Given the description of an element on the screen output the (x, y) to click on. 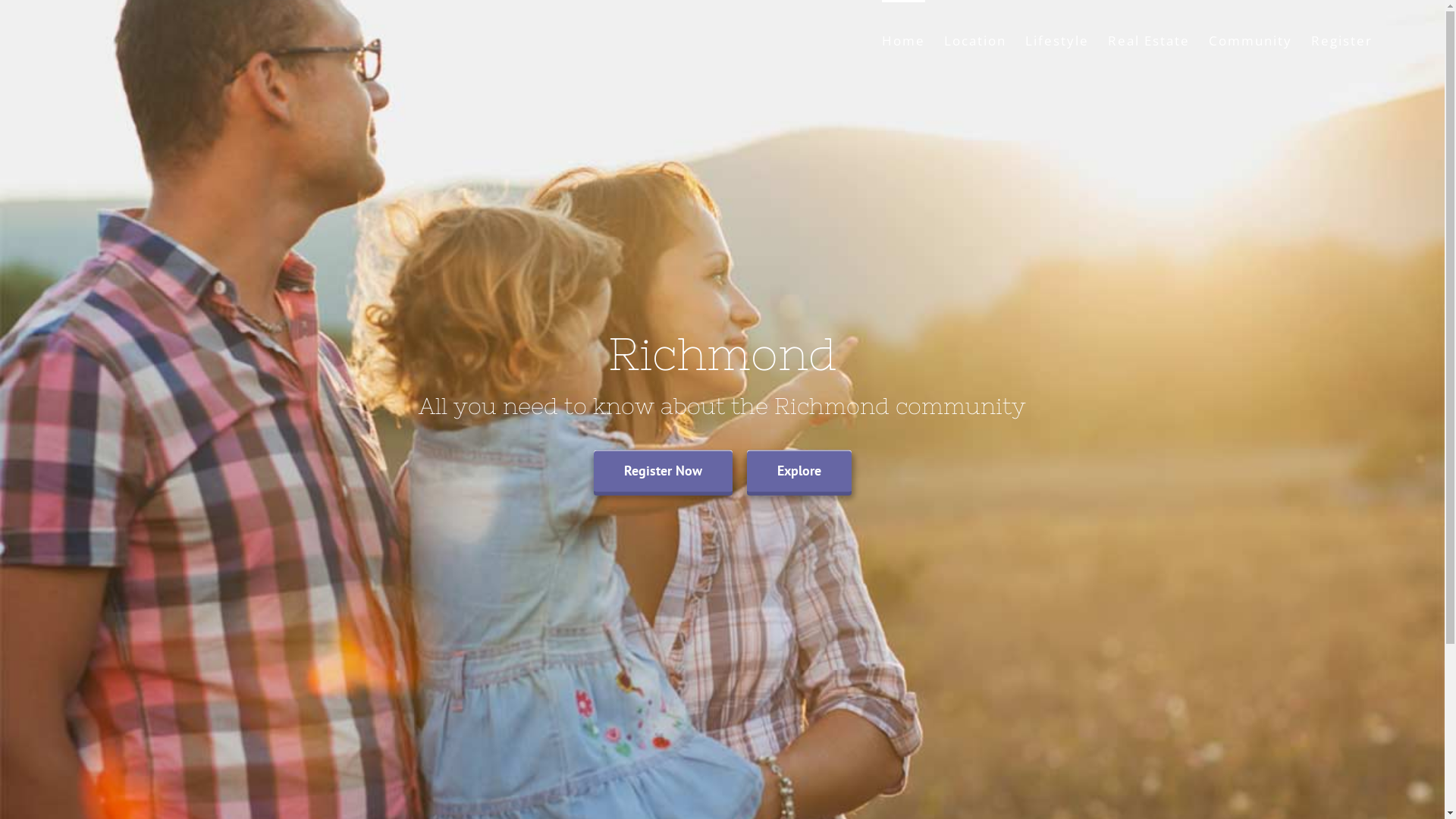
Lifestyle Element type: text (1056, 39)
Register Element type: text (1341, 39)
Real Estate Element type: text (1148, 39)
Location Element type: text (975, 39)
Register Now Element type: text (662, 471)
Community Element type: text (1250, 39)
Home Element type: text (903, 39)
Explore Element type: text (798, 471)
